Given the description of an element on the screen output the (x, y) to click on. 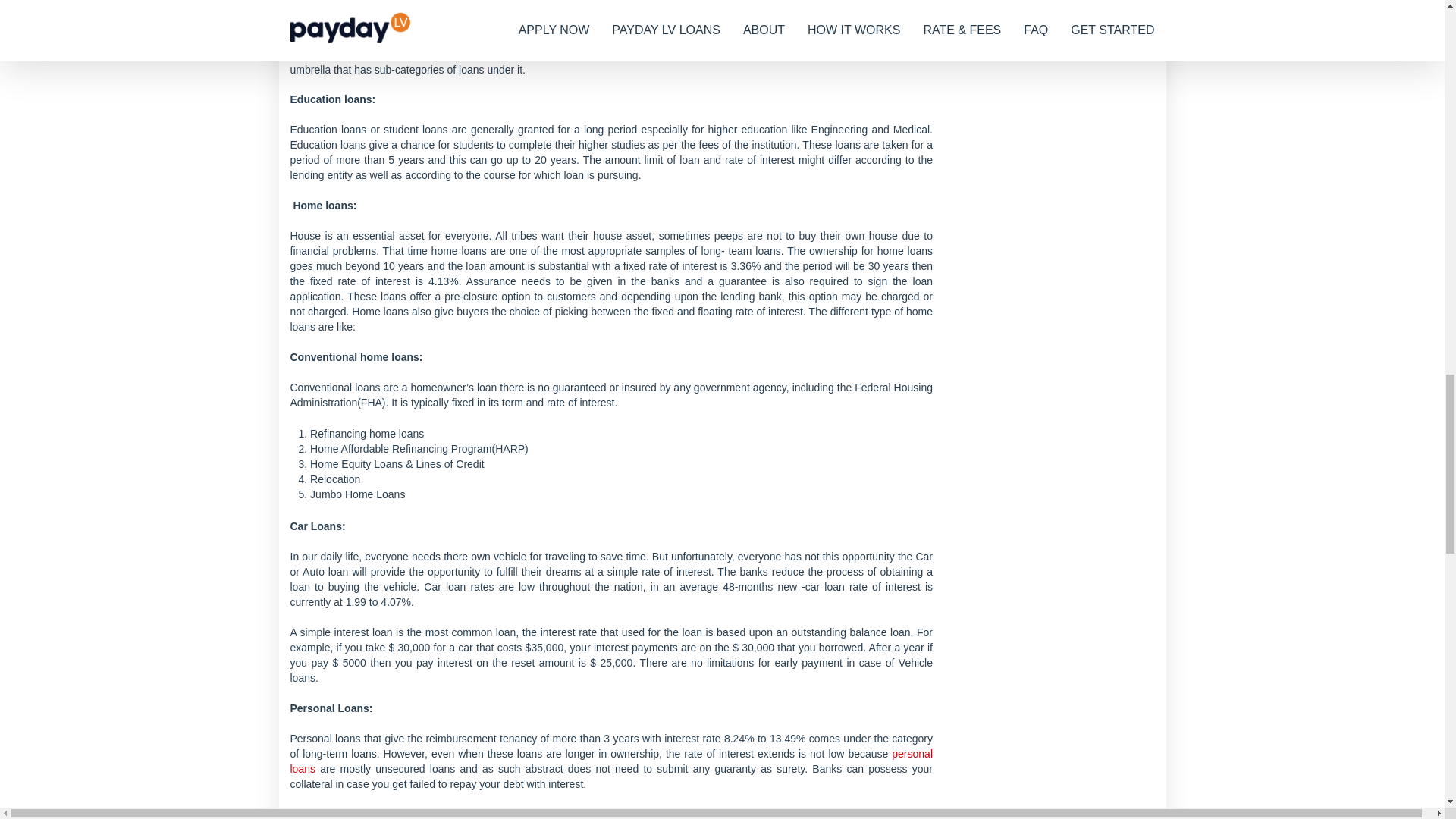
business loans (716, 24)
business loans (716, 24)
personal loans (611, 760)
personal loans (611, 760)
